Given the description of an element on the screen output the (x, y) to click on. 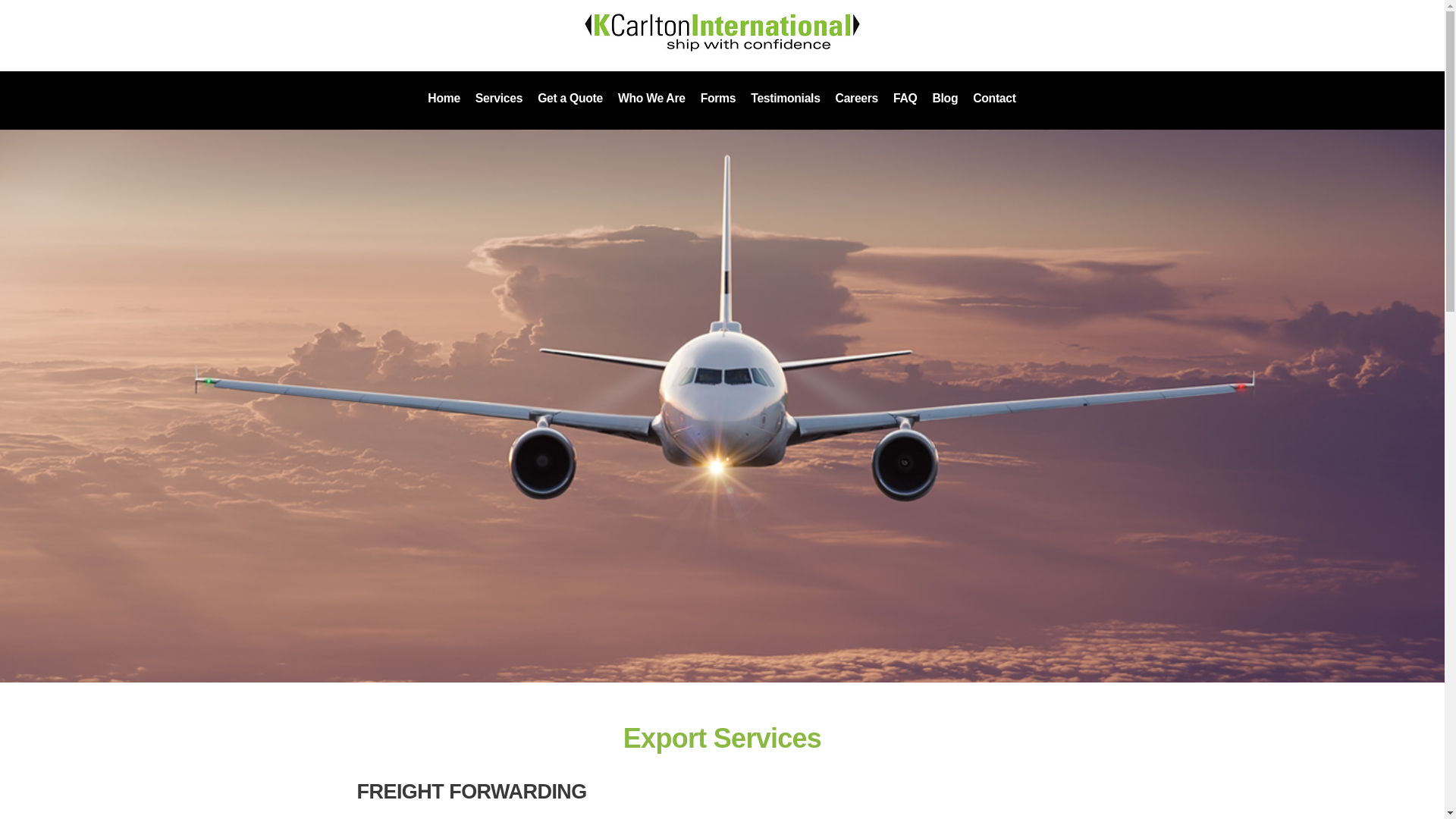
Services (498, 98)
FAQ (904, 98)
Careers (856, 98)
Blog (944, 98)
Home (443, 98)
Who We Are (651, 98)
Get a Quote (569, 98)
Forms (718, 98)
Home (722, 32)
Contact (994, 98)
Testimonials (784, 98)
